Given the description of an element on the screen output the (x, y) to click on. 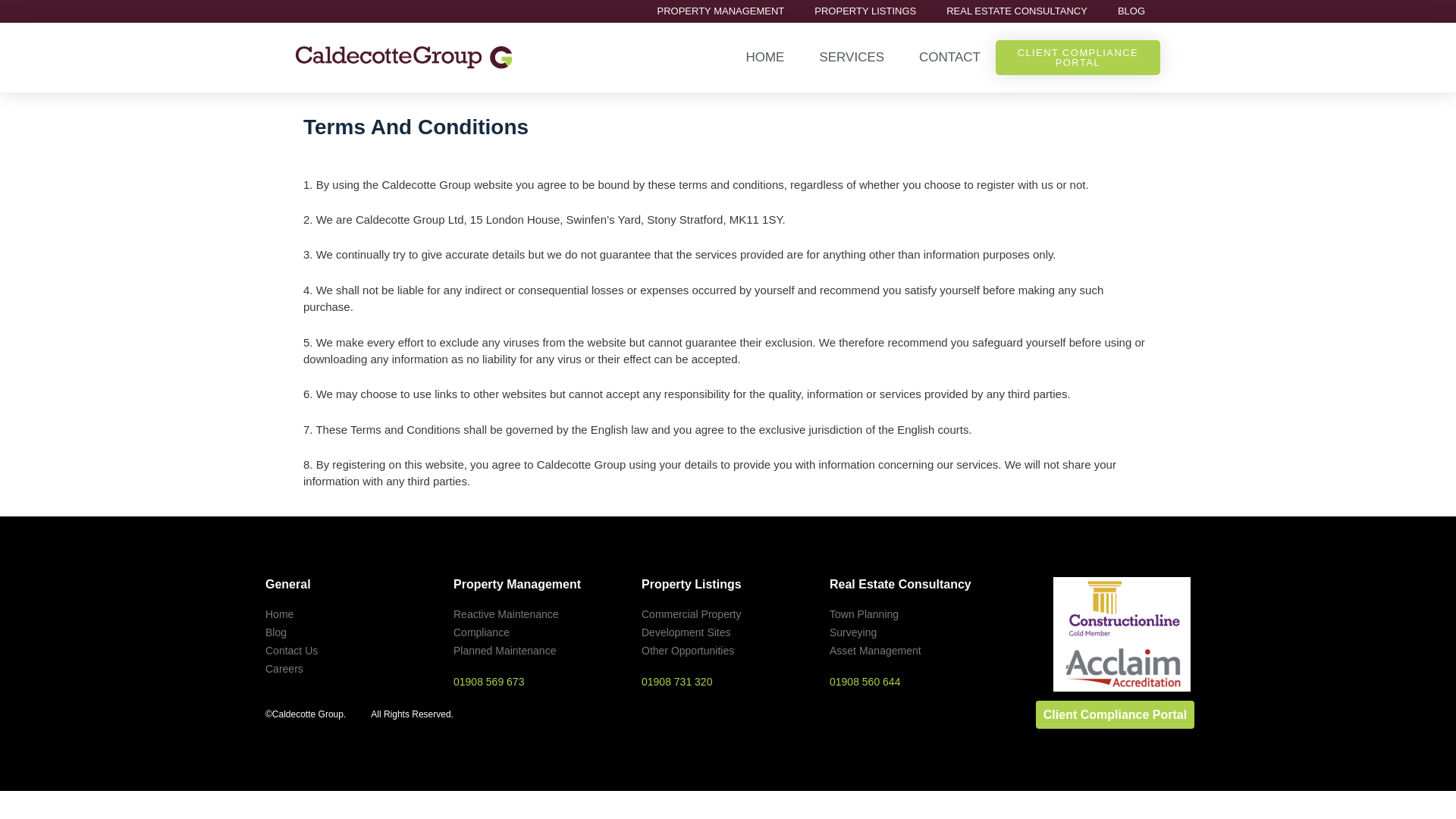
CLIENT COMPLIANCE PORTAL (1077, 57)
Other Opportunities (727, 650)
Reactive Maintenance (539, 614)
Compliance (539, 632)
BLOG (1131, 11)
Property Management (516, 584)
PROPERTY LISTINGS (865, 11)
Home (351, 614)
Planned Maintenance (539, 650)
Development Sites (727, 632)
